Given the description of an element on the screen output the (x, y) to click on. 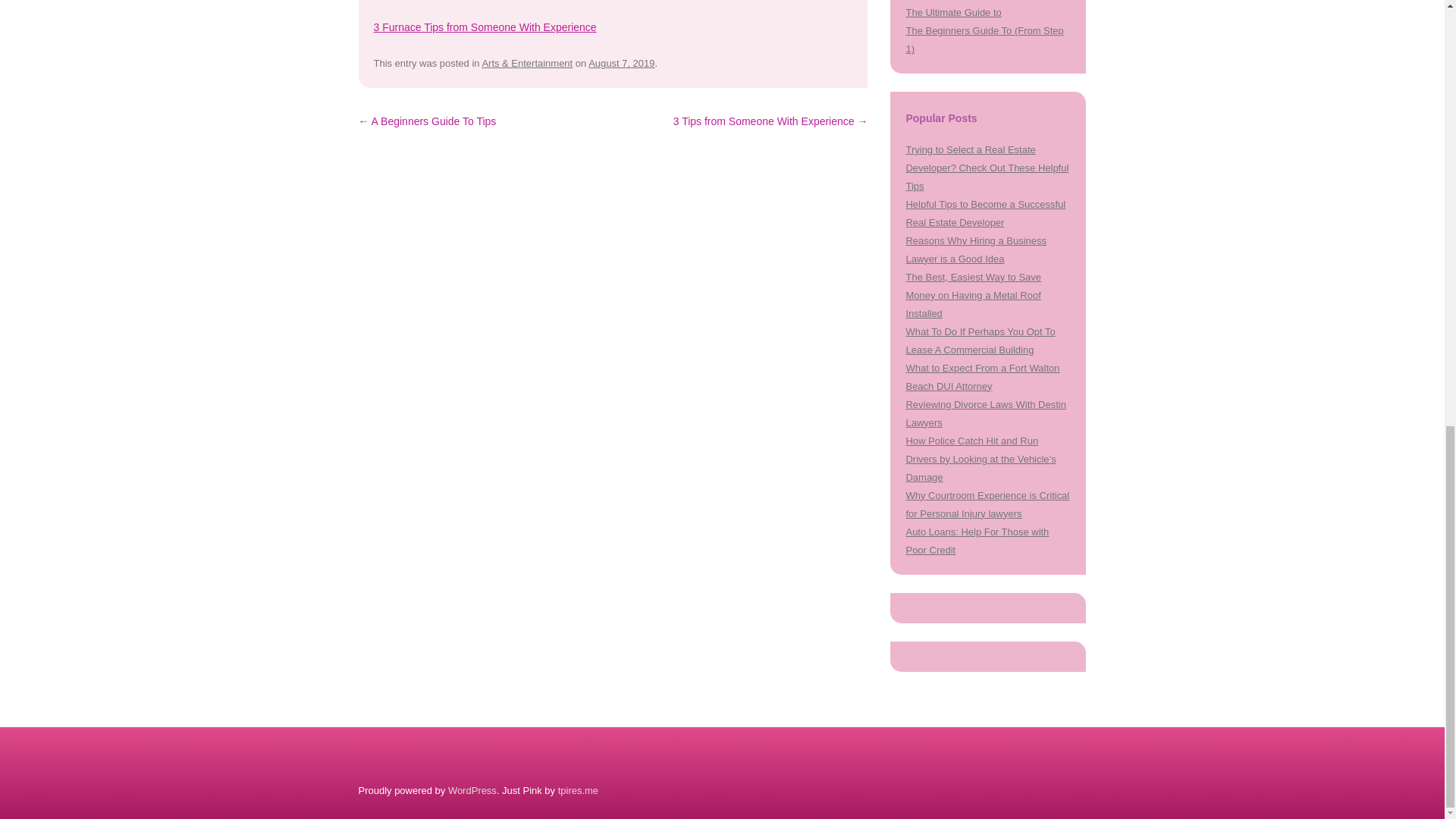
Helpful Tips to Become a Successful Real Estate Developer (985, 213)
Reasons Why Hiring a Business Lawyer is a Good Idea (975, 249)
What to Expect From a Fort Walton Beach DUI Attorney (982, 377)
What To Do If Perhaps You Opt To Lease A Commercial Building (979, 340)
Auto Loans: Help For Those with Poor Credit (976, 541)
3 Furnace Tips from Someone With Experience (483, 27)
5:22 am (620, 62)
